Given the description of an element on the screen output the (x, y) to click on. 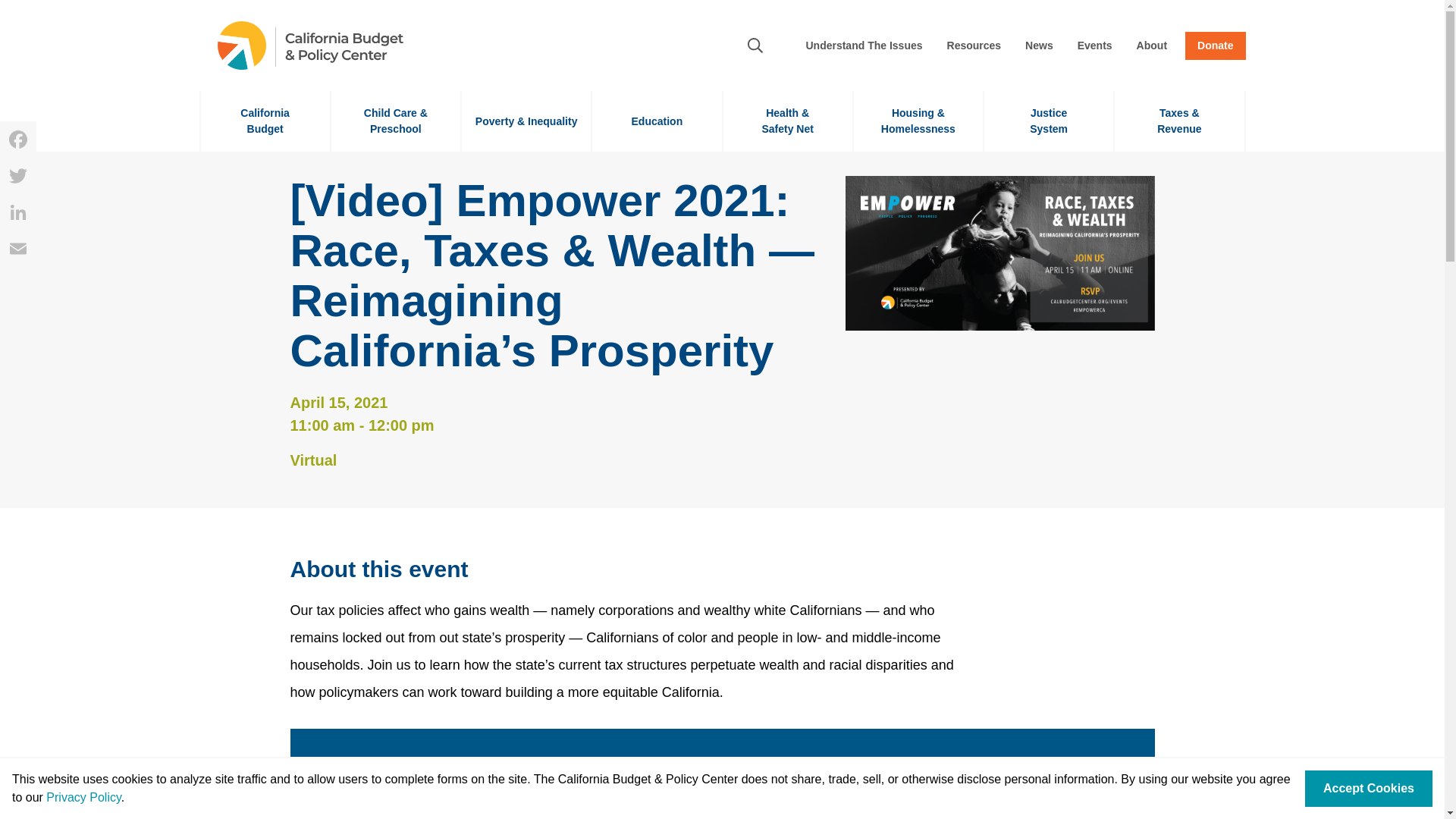
Resources (973, 45)
Education (656, 120)
Events (1094, 45)
Facebook (18, 139)
LinkedIn (18, 212)
Donate (1214, 45)
News (1048, 120)
Twitter (1039, 45)
Understand The Issues (264, 120)
Email (18, 176)
About (863, 45)
